Given the description of an element on the screen output the (x, y) to click on. 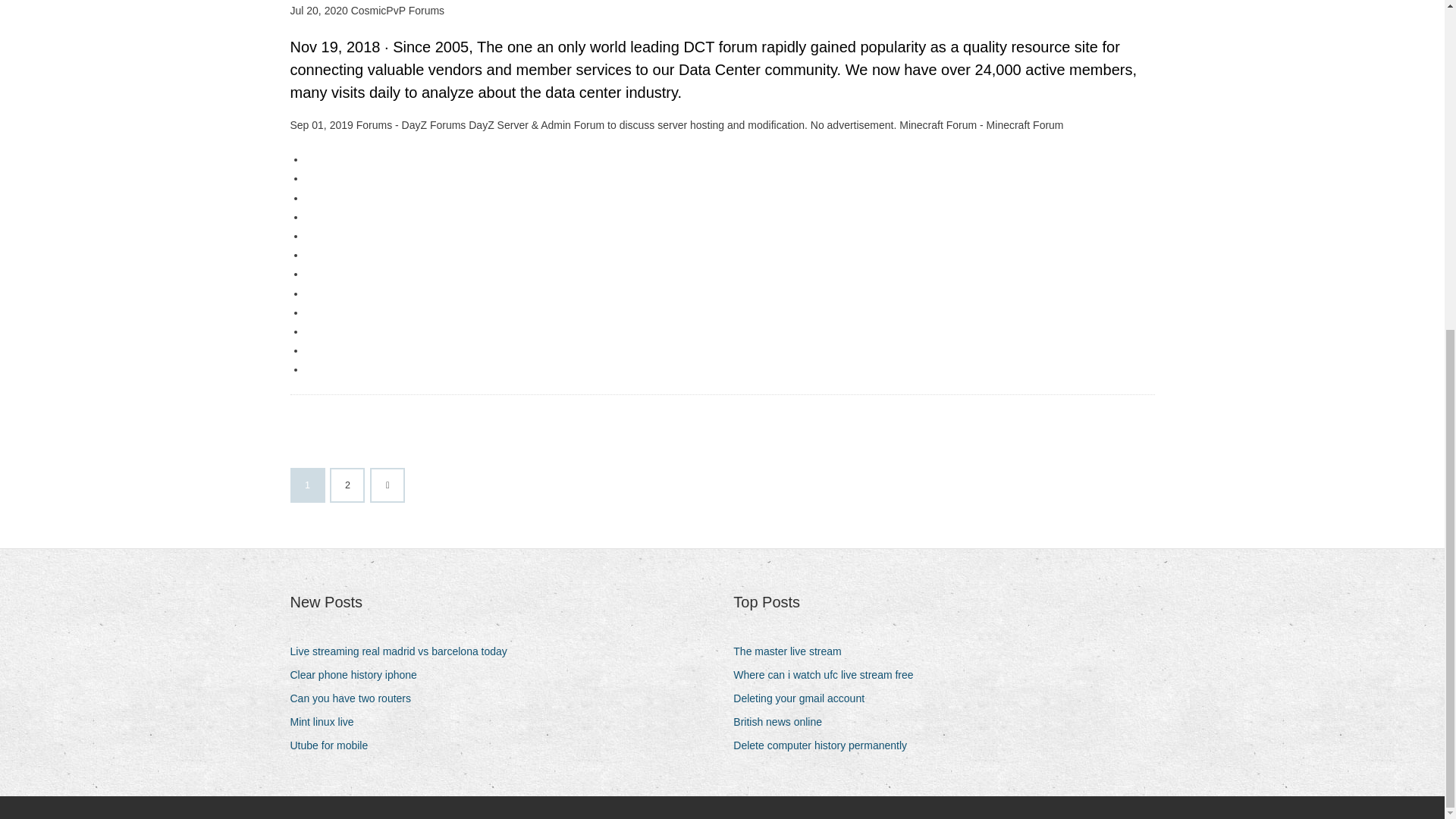
Clear phone history iphone (358, 675)
Can you have two routers (355, 698)
Mint linux live (327, 721)
2 (346, 485)
Live streaming real madrid vs barcelona today (403, 651)
British news online (782, 721)
Where can i watch ufc live stream free (828, 675)
Delete computer history permanently (825, 745)
Deleting your gmail account (804, 698)
Utube for mobile (333, 745)
The master live stream (792, 651)
